Given the description of an element on the screen output the (x, y) to click on. 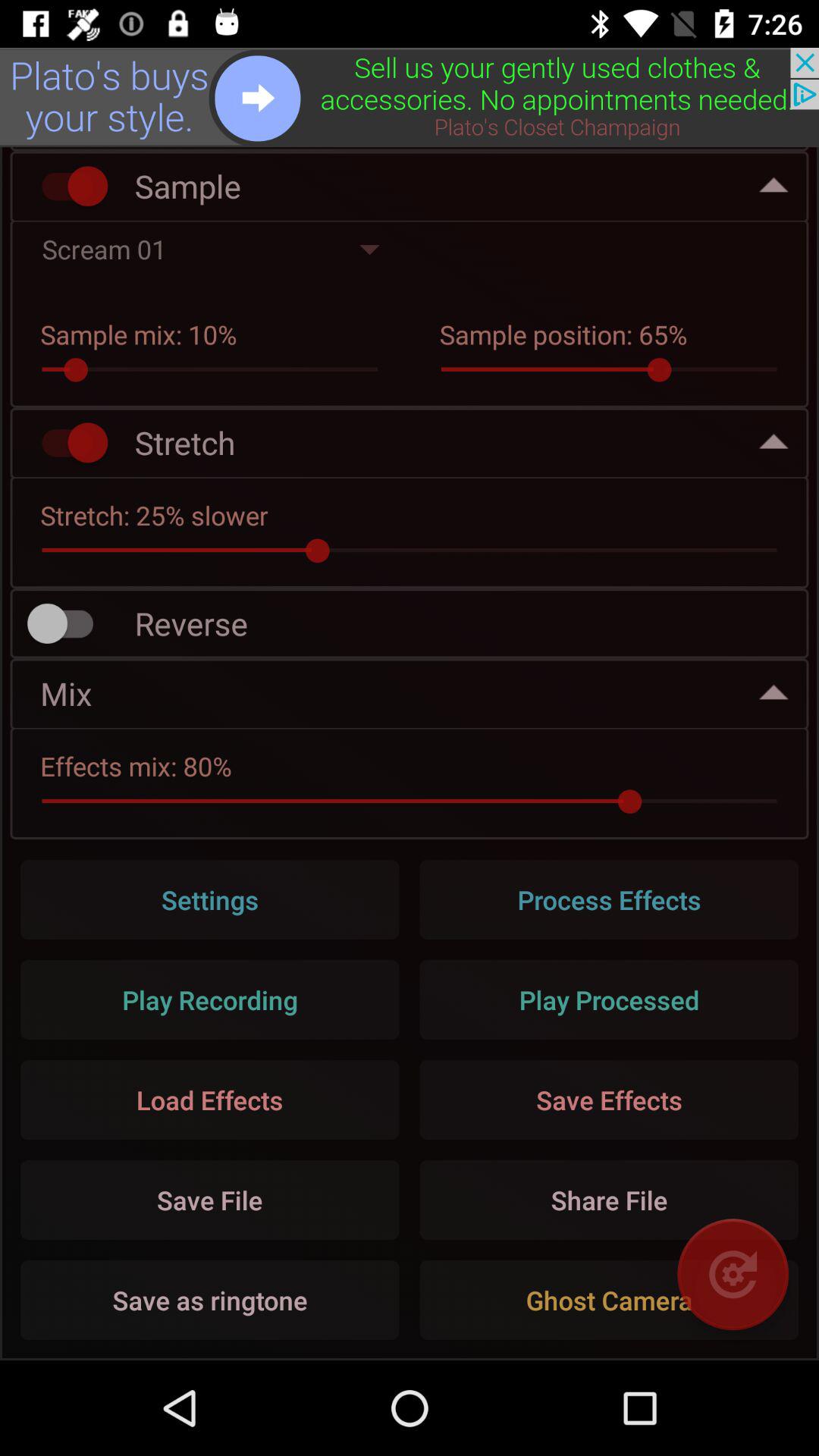
reverse recording (67, 623)
